Given the description of an element on the screen output the (x, y) to click on. 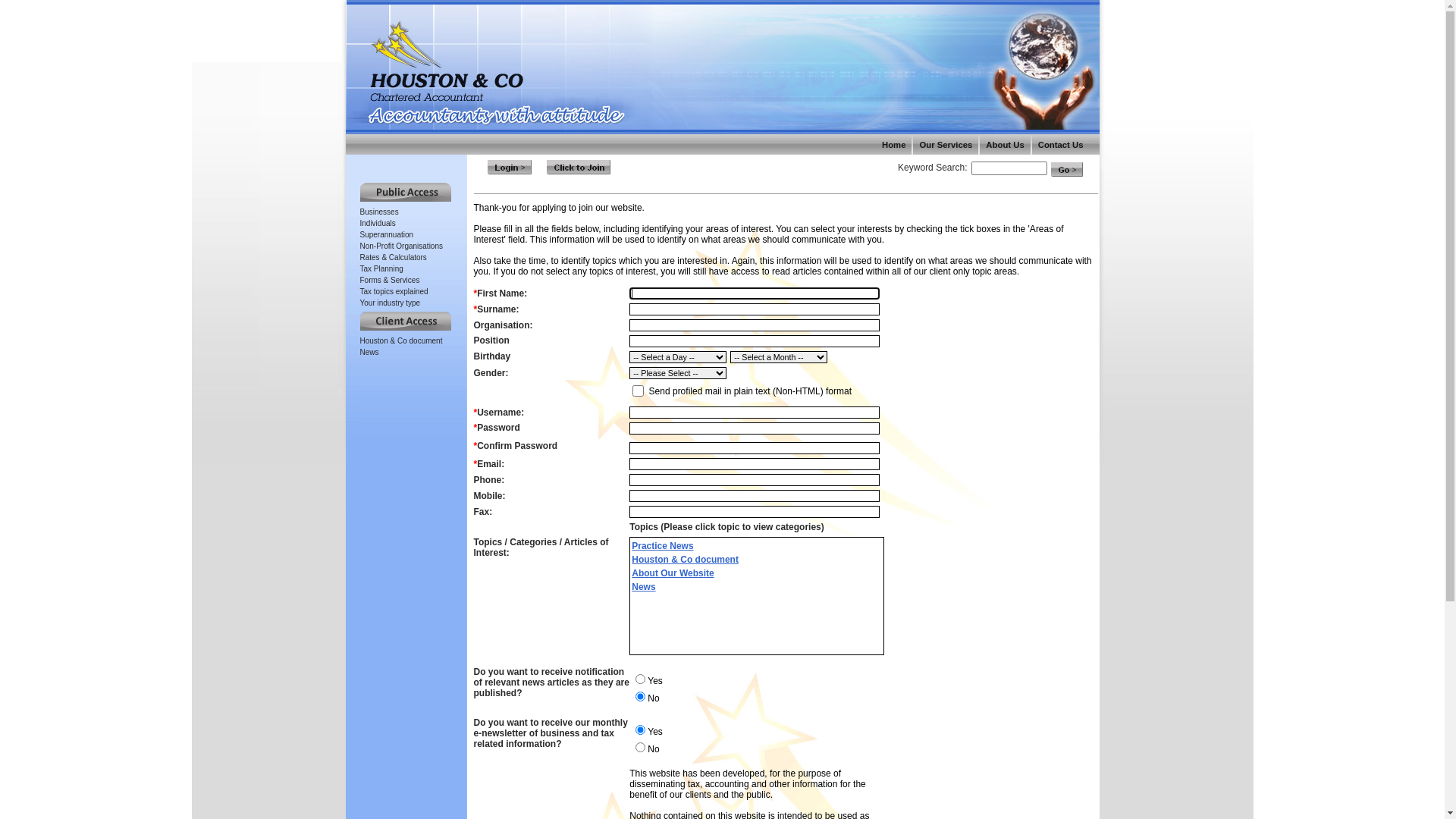
Individuals Element type: text (377, 223)
Your industry type Element type: text (389, 302)
Tax topics explained Element type: text (393, 291)
News Element type: text (643, 586)
Yes Element type: text (640, 729)
Forms & Services Element type: text (389, 280)
Tax Planning Element type: text (380, 268)
Contact Us Element type: text (1060, 143)
About Us Element type: text (1004, 143)
About Our Website Element type: text (672, 572)
Businesses Element type: text (378, 211)
Houston & Co document Element type: text (400, 340)
Practice News Element type: text (662, 545)
Home Our Services About Us Contact Us Element type: text (722, 78)
Yes Element type: text (640, 679)
Superannuation Element type: text (386, 234)
No Element type: text (640, 696)
Our Services Element type: text (945, 143)
Home Element type: text (893, 143)
Rates & Calculators Element type: text (392, 257)
No Element type: text (640, 747)
News Element type: text (368, 352)
Non-Profit Organisations Element type: text (400, 245)
Houston & Co document Element type: text (684, 559)
